Given the description of an element on the screen output the (x, y) to click on. 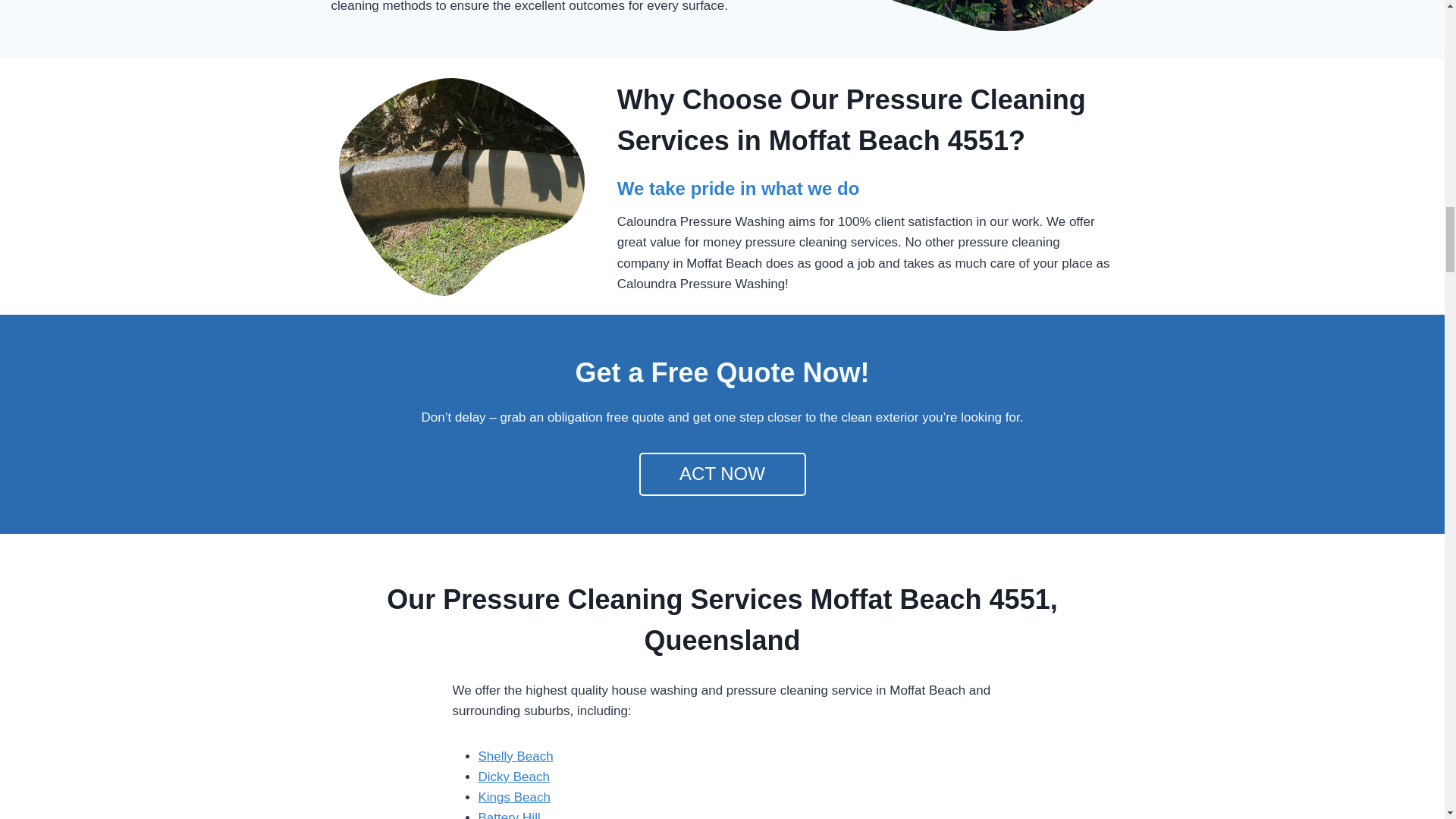
ACT NOW (722, 474)
Kings Beach (513, 797)
Dicky Beach (512, 776)
Battery Hill (508, 814)
Shelly Beach (515, 756)
